Given the description of an element on the screen output the (x, y) to click on. 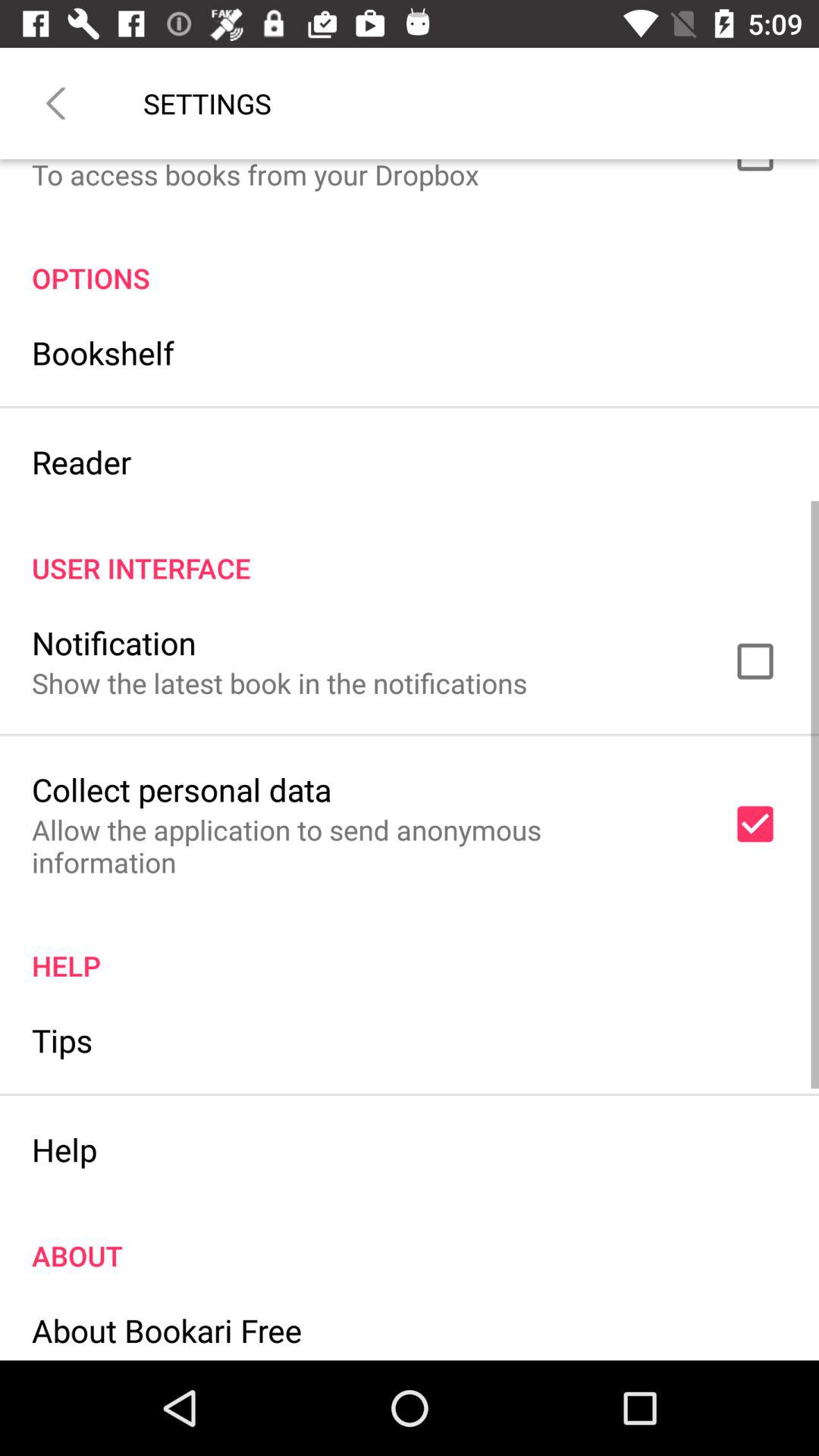
flip to the user interface icon (409, 551)
